Given the description of an element on the screen output the (x, y) to click on. 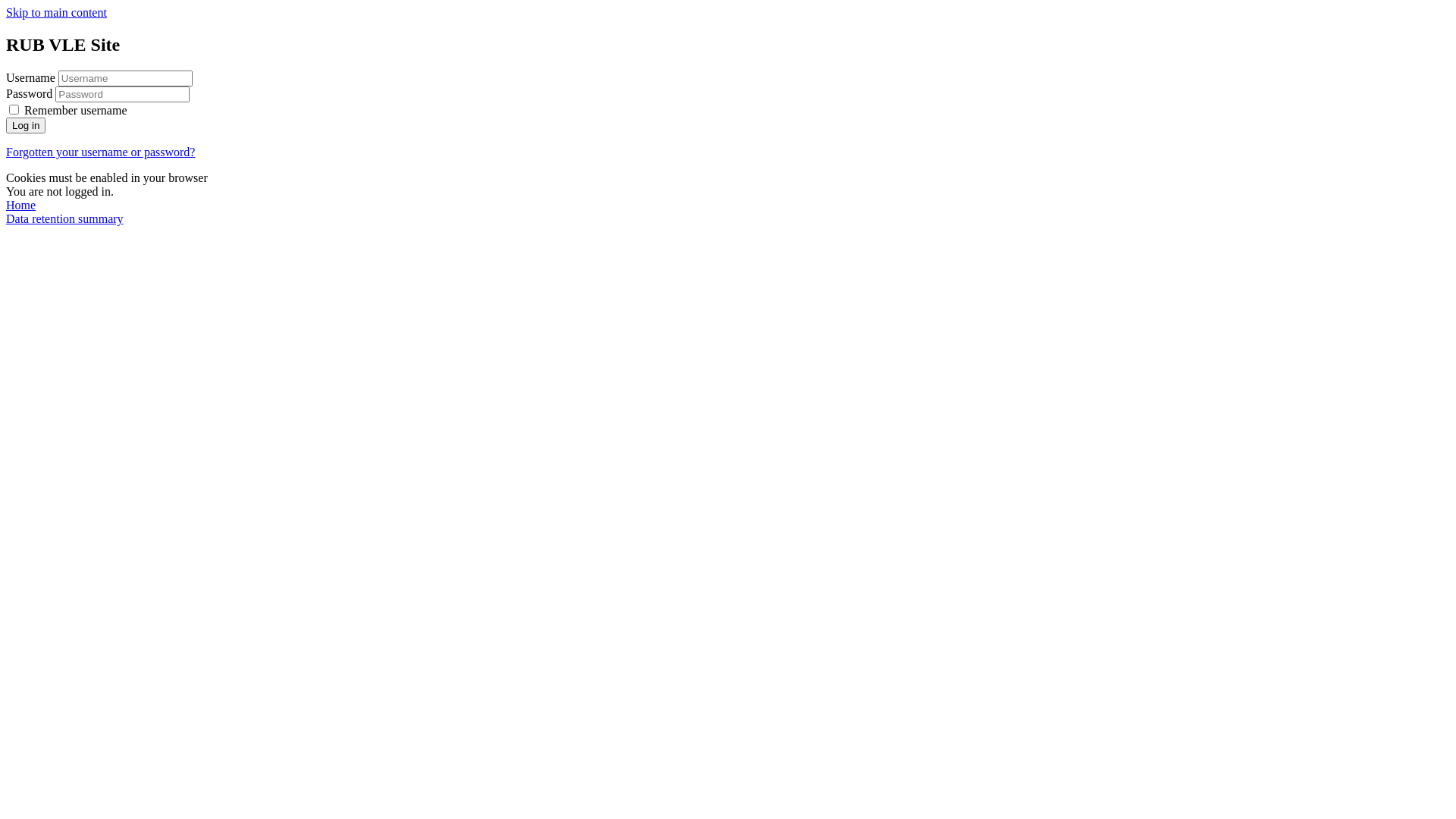
Skip to main content Element type: text (56, 12)
Log in Element type: text (25, 125)
Forgotten your username or password? Element type: text (100, 151)
Data retention summary Element type: text (64, 218)
Home Element type: text (20, 204)
